Given the description of an element on the screen output the (x, y) to click on. 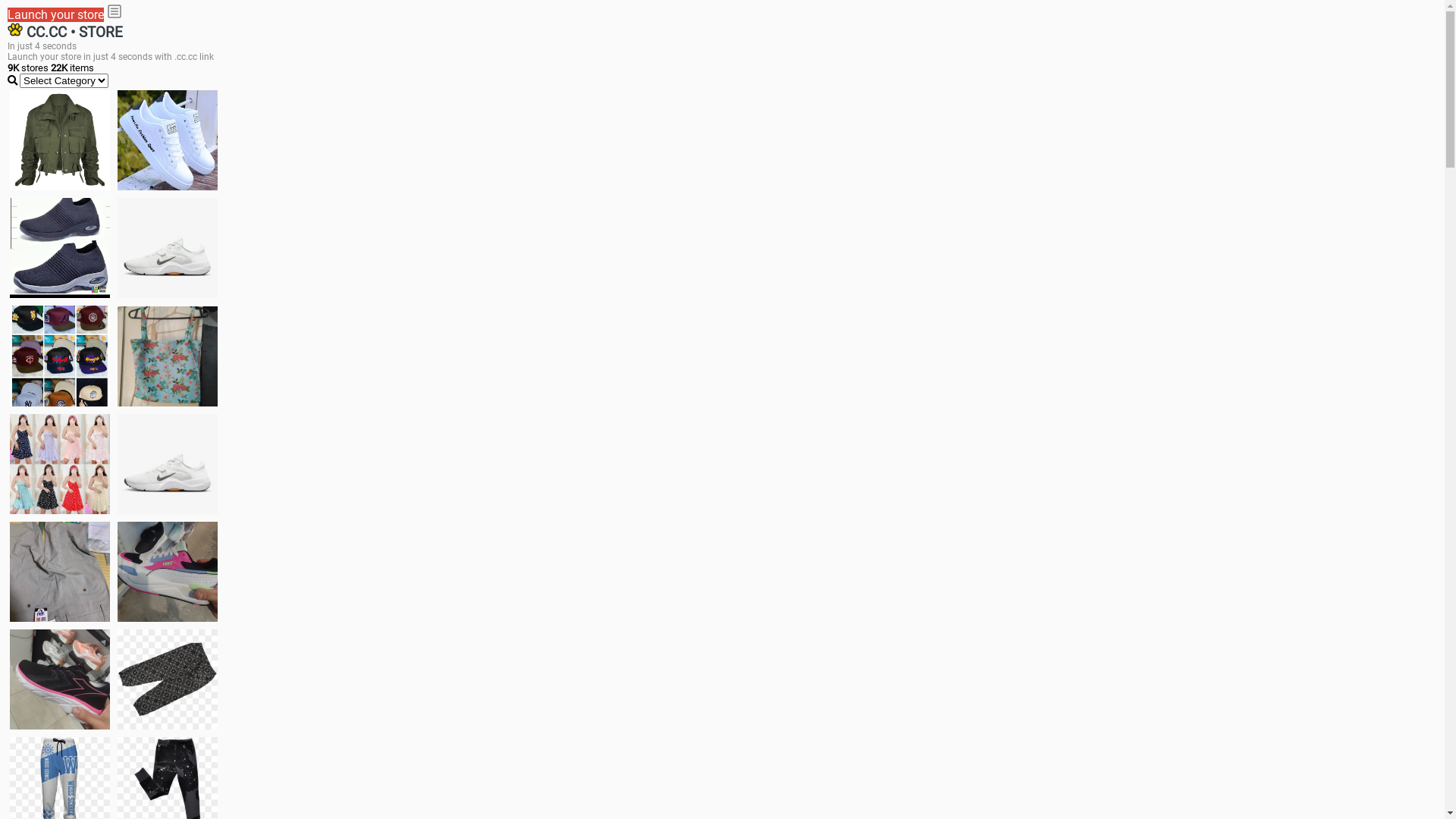
Zapatillas Element type: hover (59, 679)
jacket Element type: hover (59, 140)
shoes for boys Element type: hover (59, 247)
Shoes Element type: hover (167, 464)
Ukay cloth Element type: hover (167, 356)
Short pant Element type: hover (167, 679)
white shoes Element type: hover (167, 140)
Zapatillas pumas Element type: hover (167, 571)
Shoes for boys Element type: hover (167, 247)
Dress/square nect top Element type: hover (59, 464)
Things we need Element type: hover (59, 355)
Launch your store Element type: text (55, 14)
